Given the description of an element on the screen output the (x, y) to click on. 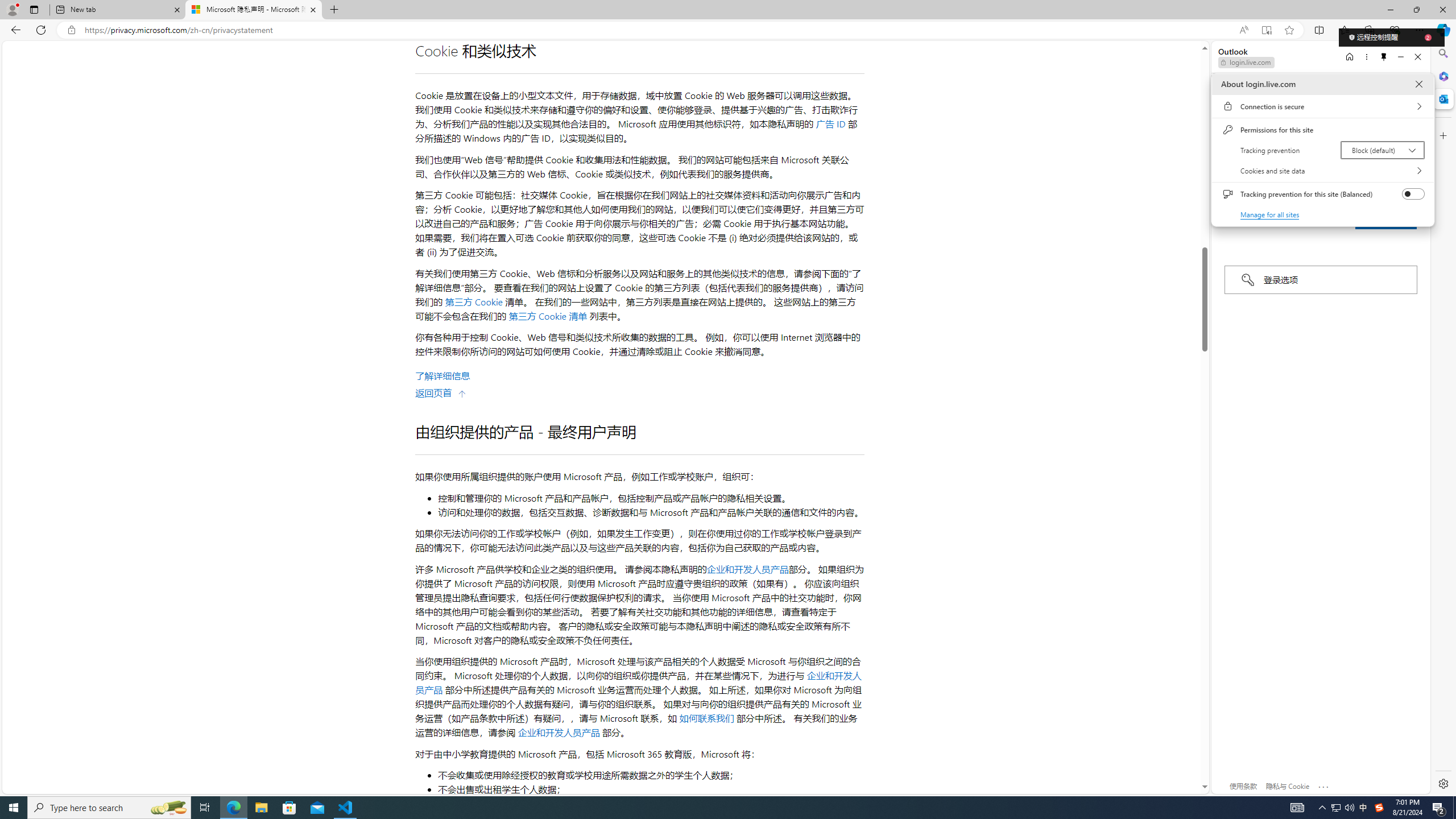
Tracking prevention for this site (Balanced) (1413, 193)
Notification Chevron (1322, 807)
AutomationID: 4105 (1297, 807)
Type here to search (108, 807)
Running applications (707, 807)
Action Center, 2 new notifications (1439, 807)
User Promoted Notification Area (1342, 807)
Show desktop (1454, 807)
Connection is secure (1322, 105)
About login.live.com (1418, 83)
Search highlights icon opens search home window (167, 807)
Visual Studio Code - 1 running window (345, 807)
File Explorer (261, 807)
